Given the description of an element on the screen output the (x, y) to click on. 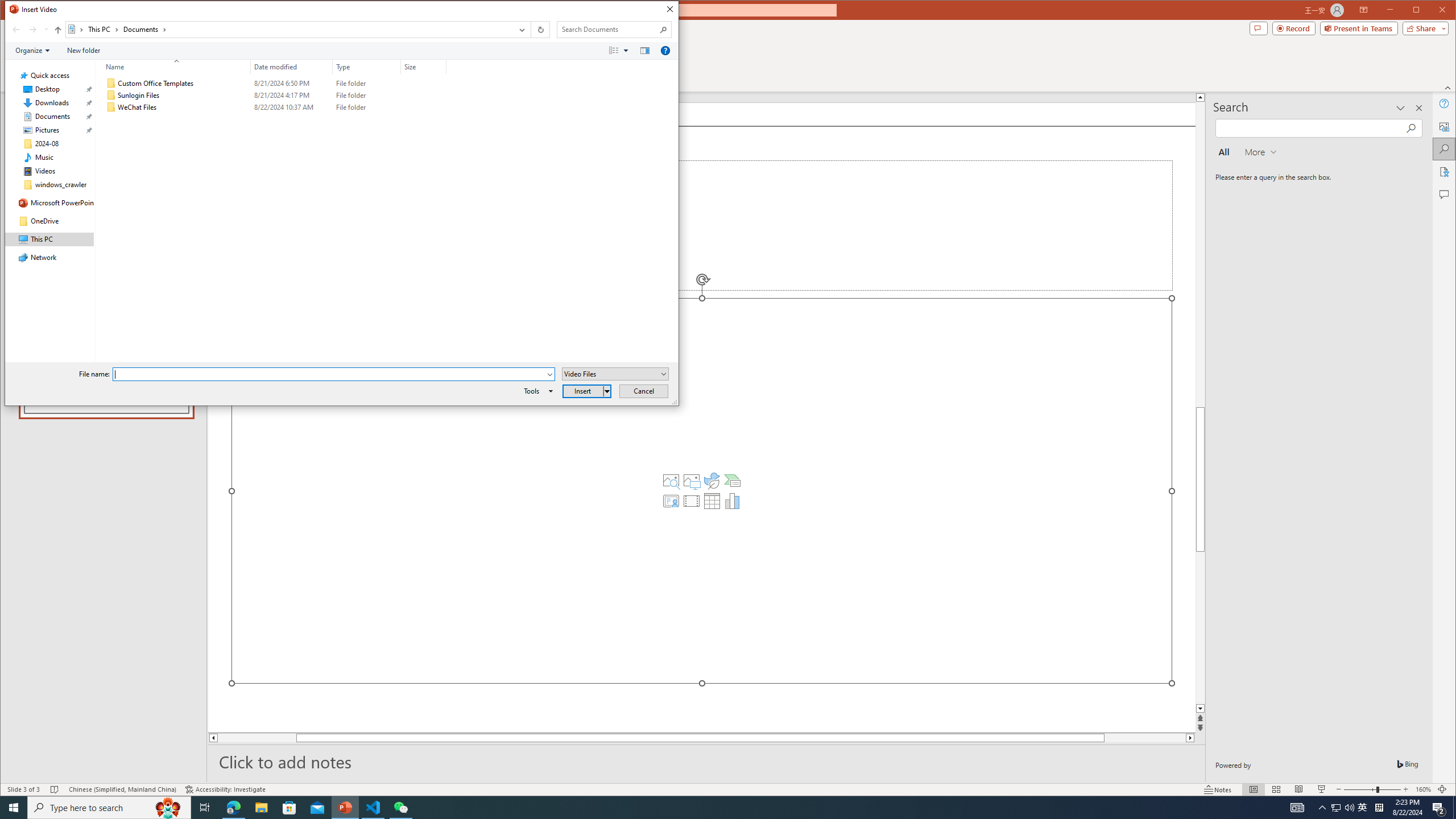
Size (423, 66)
Cancel (643, 391)
This PC (102, 29)
View Slider (626, 50)
